Given the description of an element on the screen output the (x, y) to click on. 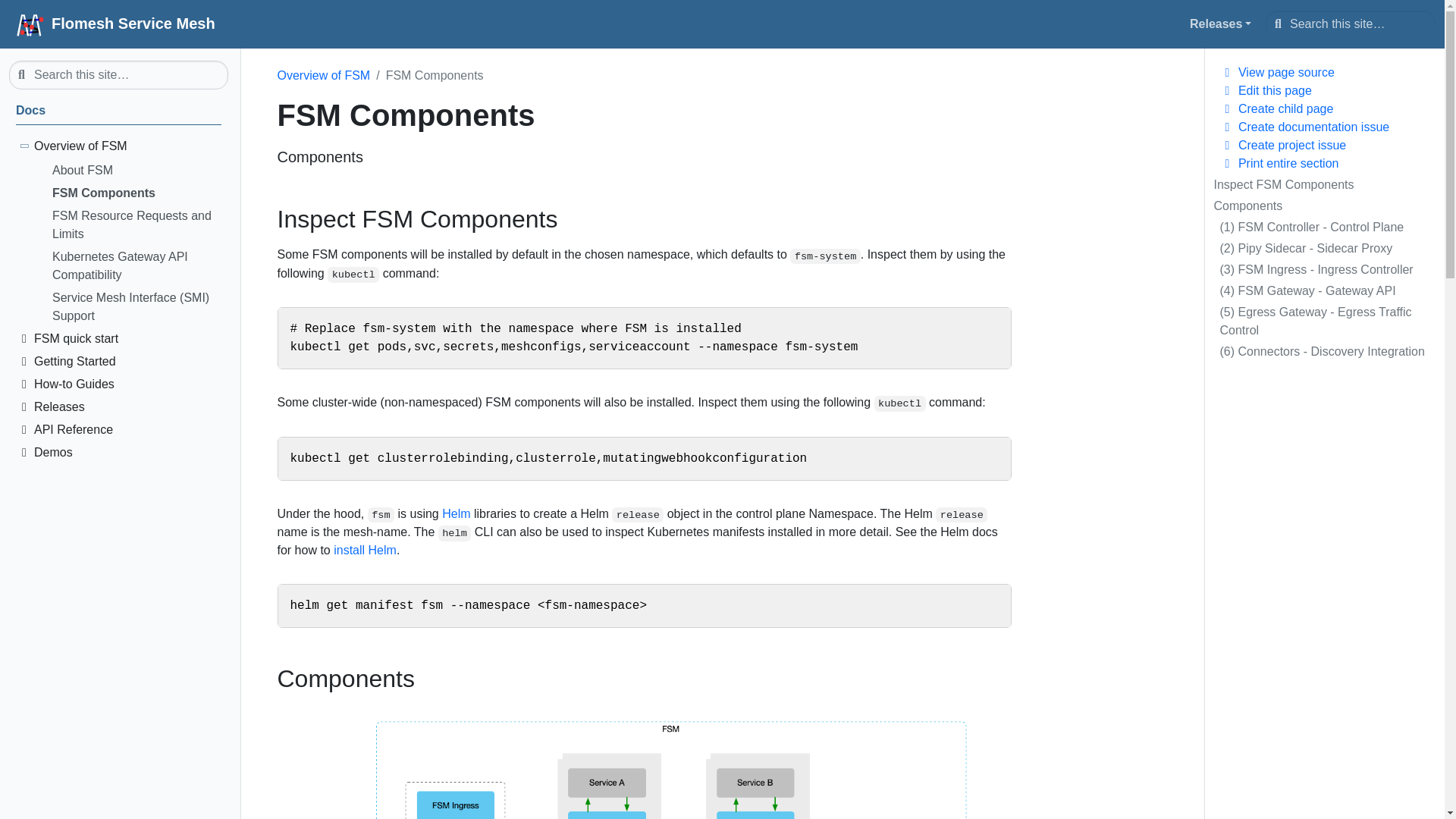
Releases (1224, 24)
Docs (118, 113)
How-to Guides (127, 386)
Getting Started (127, 363)
FSM Resource Requests and Limits (136, 227)
Releases (1221, 24)
Kubernetes Gateway API Compatibility (136, 268)
FSM Components (136, 195)
About FSM (136, 172)
FSM quick start (127, 341)
Flomesh Service Mesh (111, 24)
Overview of FSM (127, 148)
Flomesh Service Mesh (118, 113)
